Given the description of an element on the screen output the (x, y) to click on. 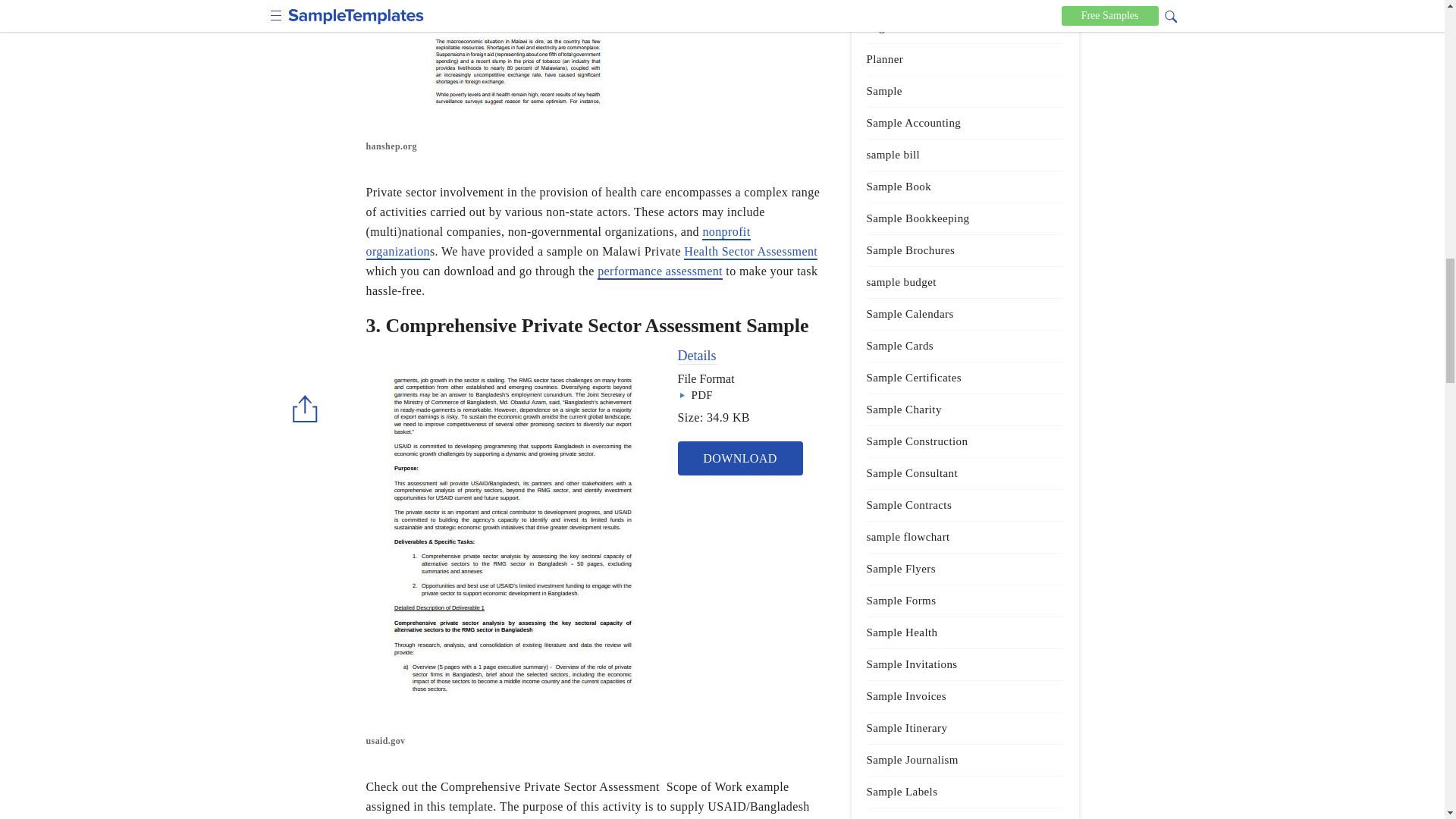
hanshep.org (515, 146)
Health Sector Assessment (750, 252)
nonprofit organization (557, 242)
performance assessment (659, 272)
usaid.gov (515, 741)
DOWNLOAD (740, 458)
